Given the description of an element on the screen output the (x, y) to click on. 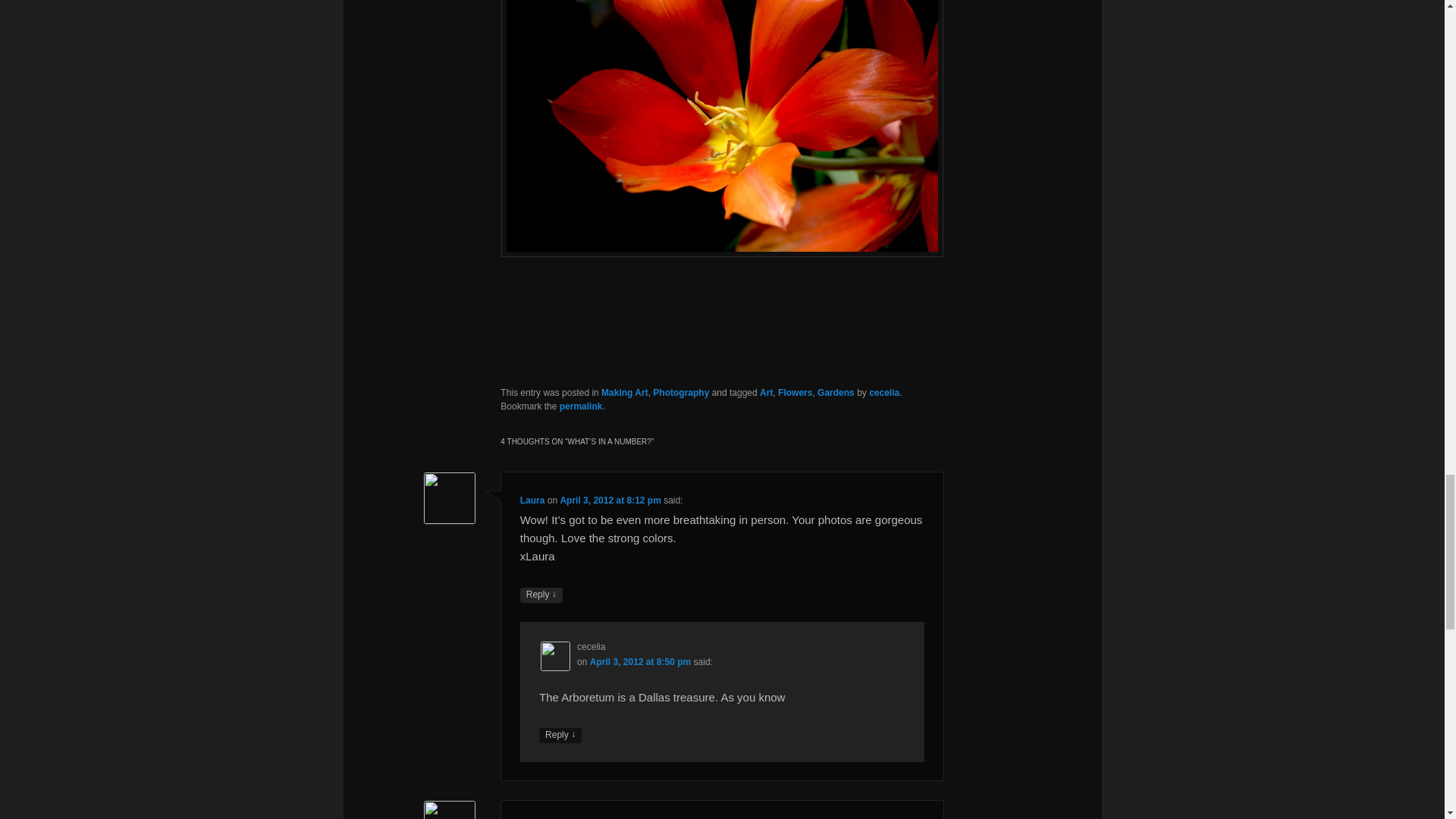
Photography (680, 392)
cecelia (884, 392)
permalink (580, 406)
Art (766, 392)
Laura (531, 500)
April 3, 2012 at 8:12 pm (610, 500)
April 3, 2012 at 8:50 pm (639, 661)
Making Art (624, 392)
Gardens (835, 392)
Flowers (794, 392)
